Given the description of an element on the screen output the (x, y) to click on. 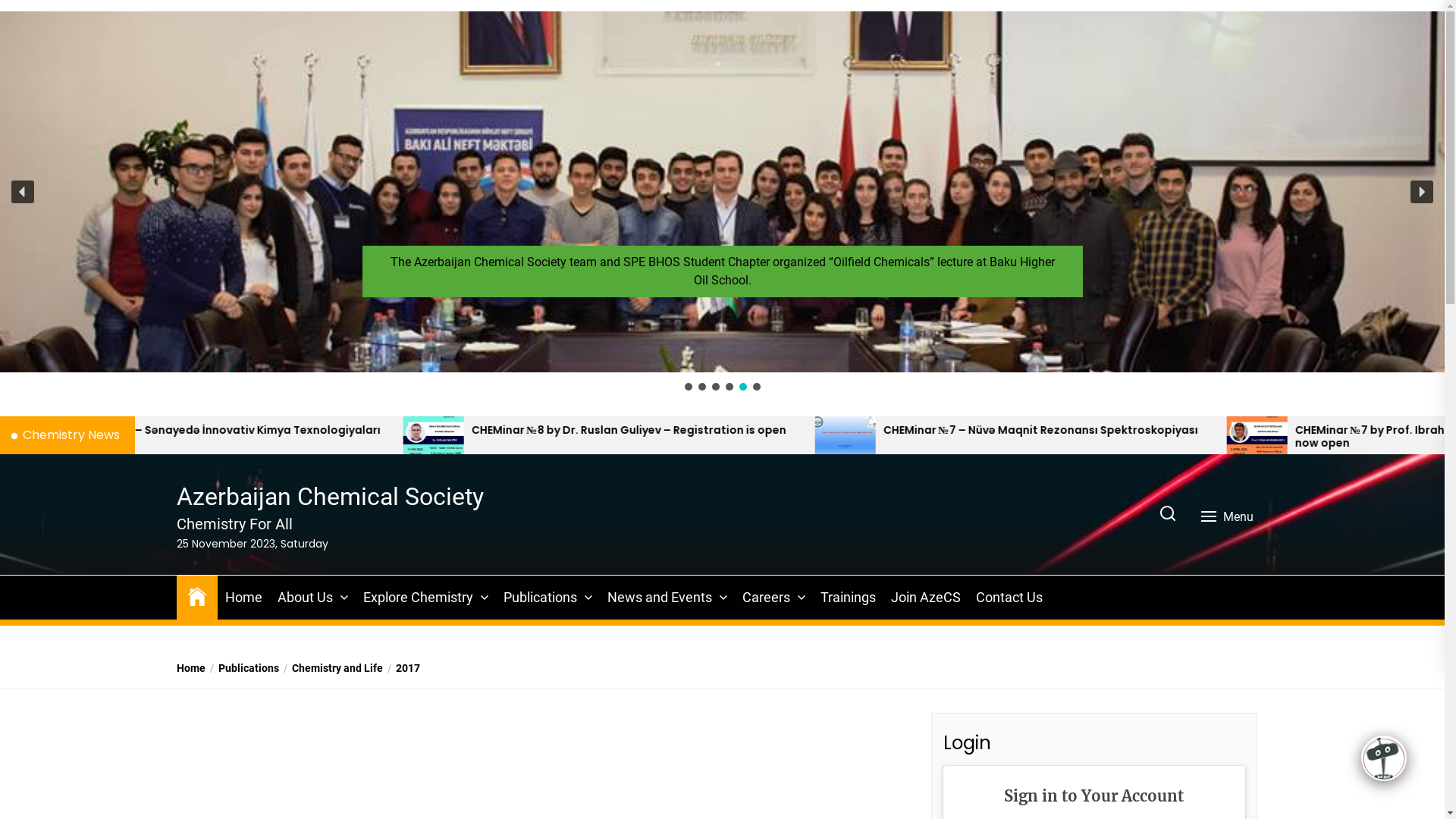
Home Element type: hover (195, 595)
Home Element type: text (242, 597)
Chemistry and Life Element type: text (330, 668)
Contact Us Element type: text (1008, 597)
Trainings Element type: text (847, 597)
2017 Element type: text (400, 668)
Home Element type: text (189, 668)
Field Trip to the Intertek Azeri Central Laboratory Element type: text (722, 191)
Azerbaijan Chemical Society Element type: text (329, 496)
Menu Element type: text (1228, 516)
Careers Element type: text (765, 597)
News and Events Element type: text (658, 597)
Publications Element type: text (241, 668)
About Us Element type: text (304, 597)
Explore Chemistry Element type: text (417, 597)
Publications Element type: text (540, 597)
Field Trip to the Intertek Azeri Central Laboratory Element type: text (722, 283)
Join AzeCS Element type: text (925, 597)
